Given the description of an element on the screen output the (x, y) to click on. 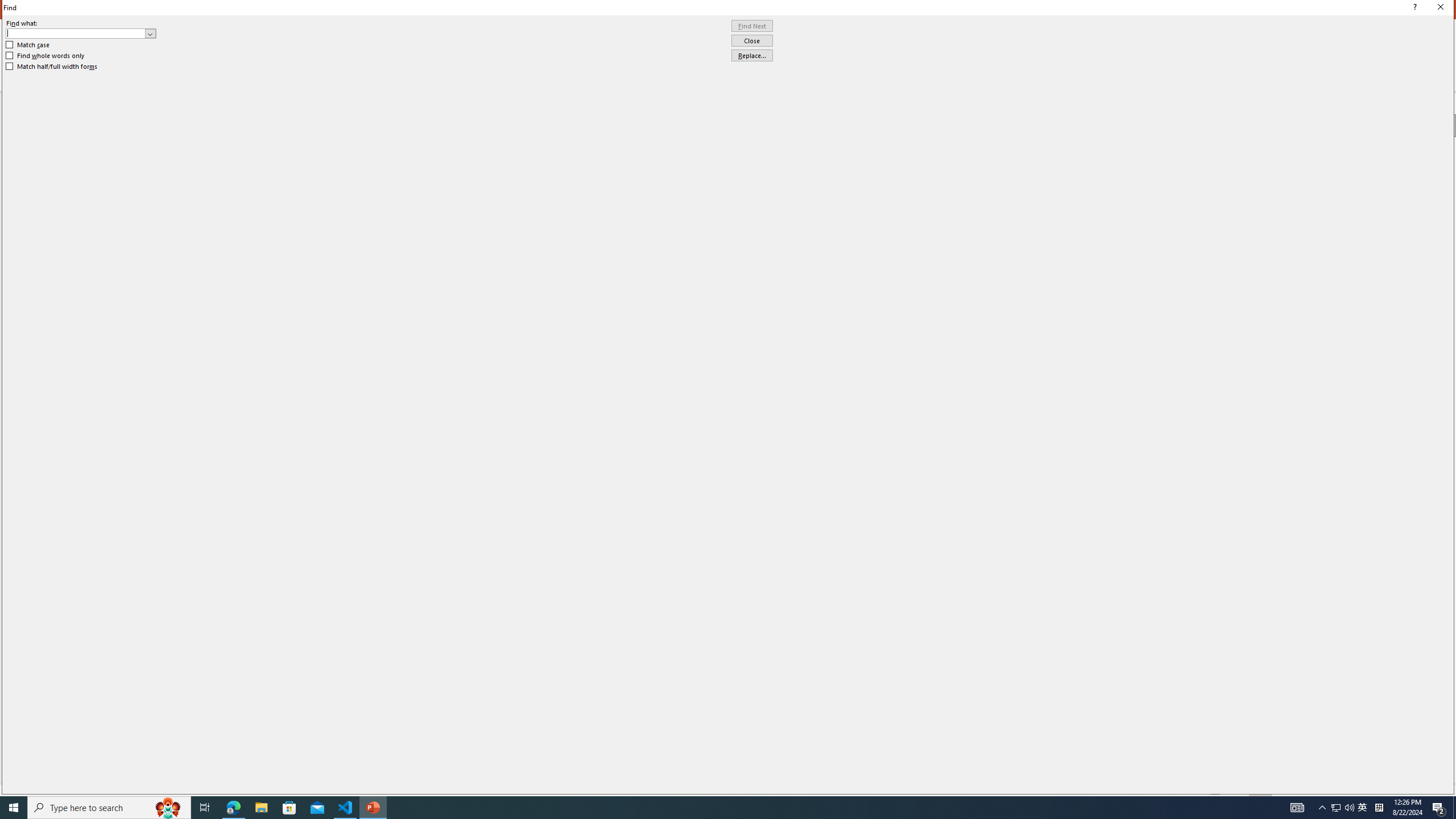
Find what (75, 33)
Find Next (751, 25)
Find whole words only (45, 55)
Match half/full width forms (52, 66)
Find what (80, 33)
Match case (27, 44)
